Given the description of an element on the screen output the (x, y) to click on. 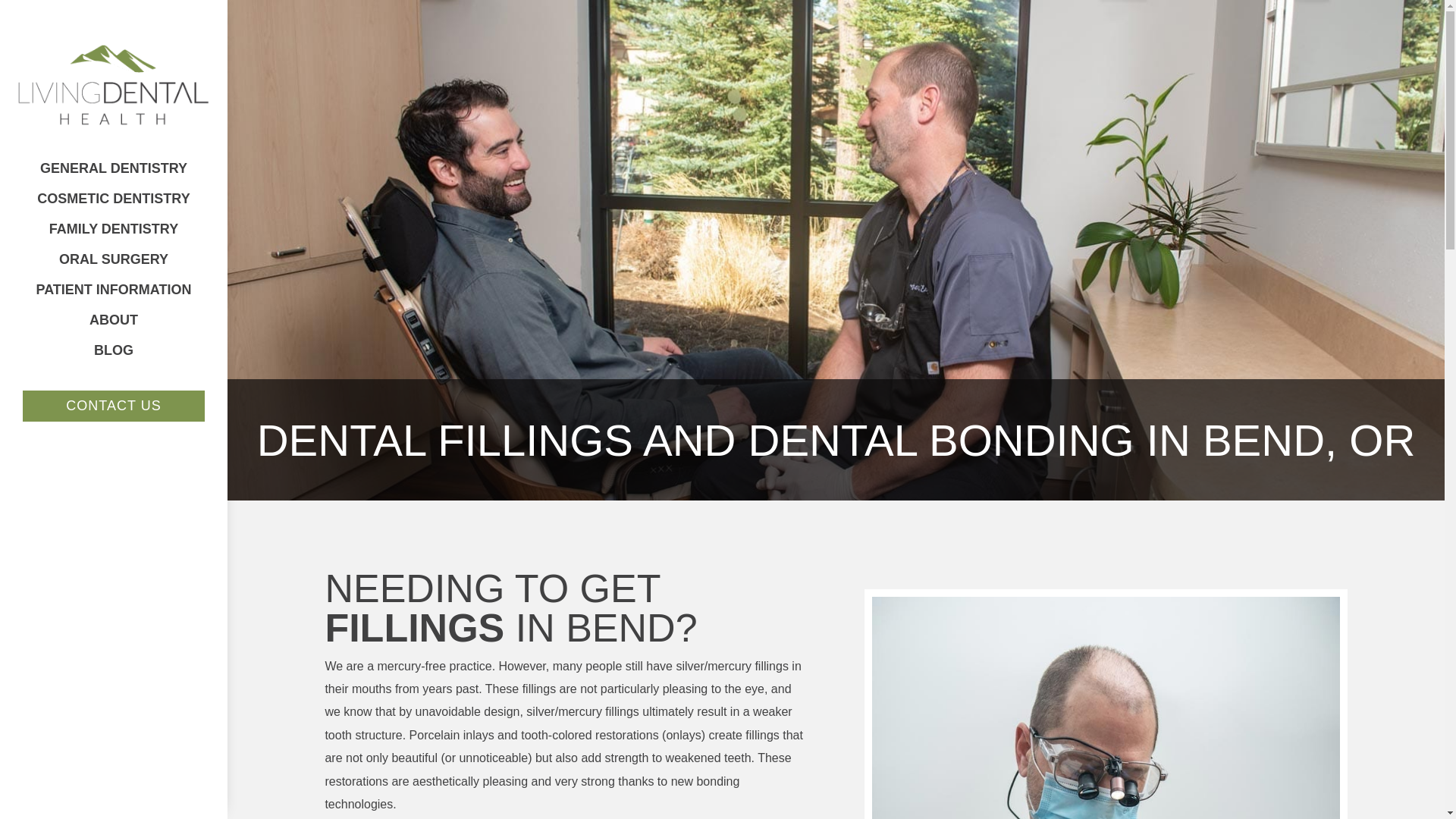
FillingsBonding-tall (1105, 708)
ORAL SURGERY (113, 258)
FAMILY DENTISTRY (113, 228)
BLOG (113, 349)
COSMETIC DENTISTRY (113, 198)
ABOUT (113, 319)
PATIENT INFORMATION (113, 289)
GENERAL DENTISTRY (113, 167)
